Given the description of an element on the screen output the (x, y) to click on. 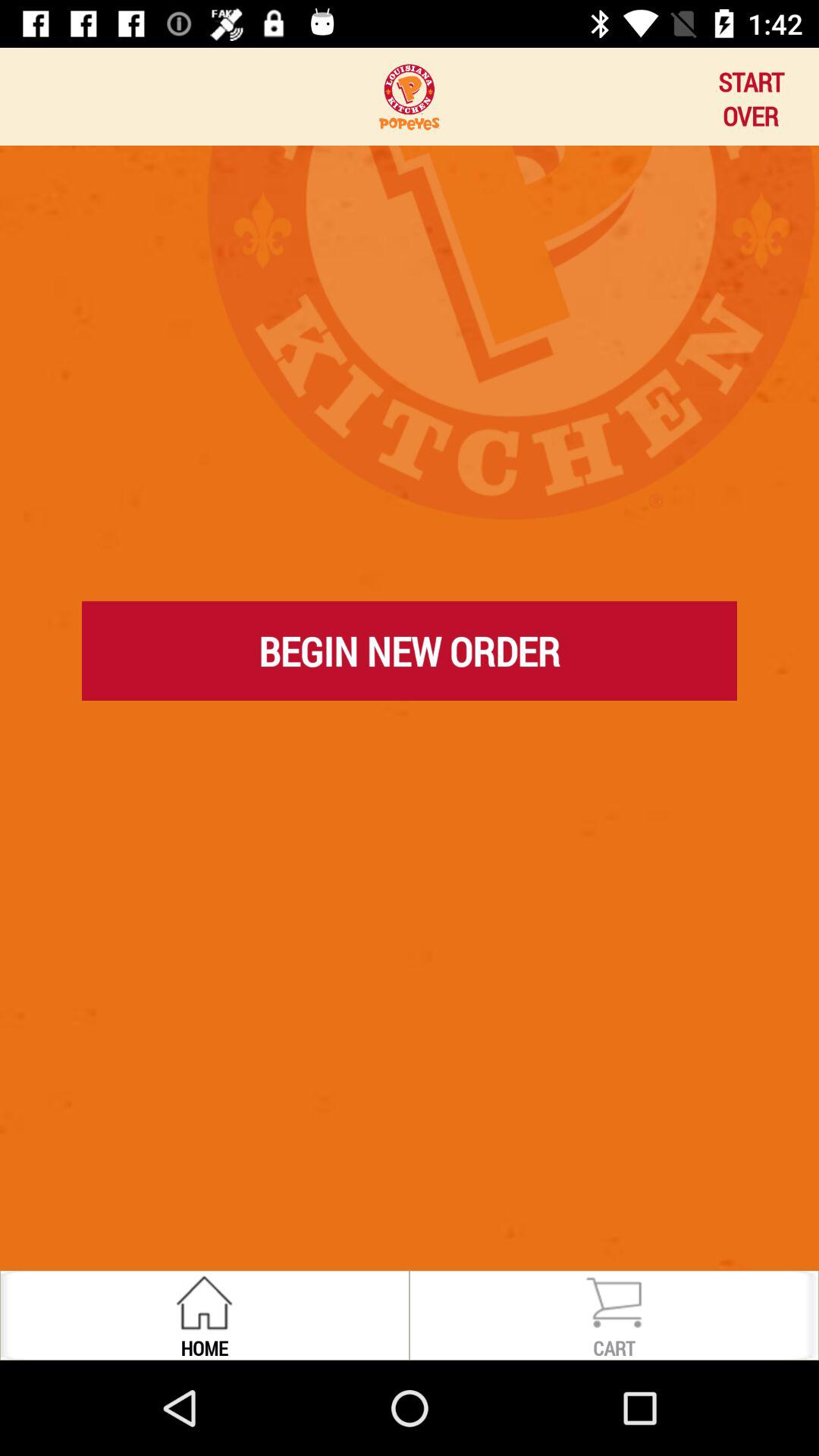
jump until begin new order (409, 650)
